Given the description of an element on the screen output the (x, y) to click on. 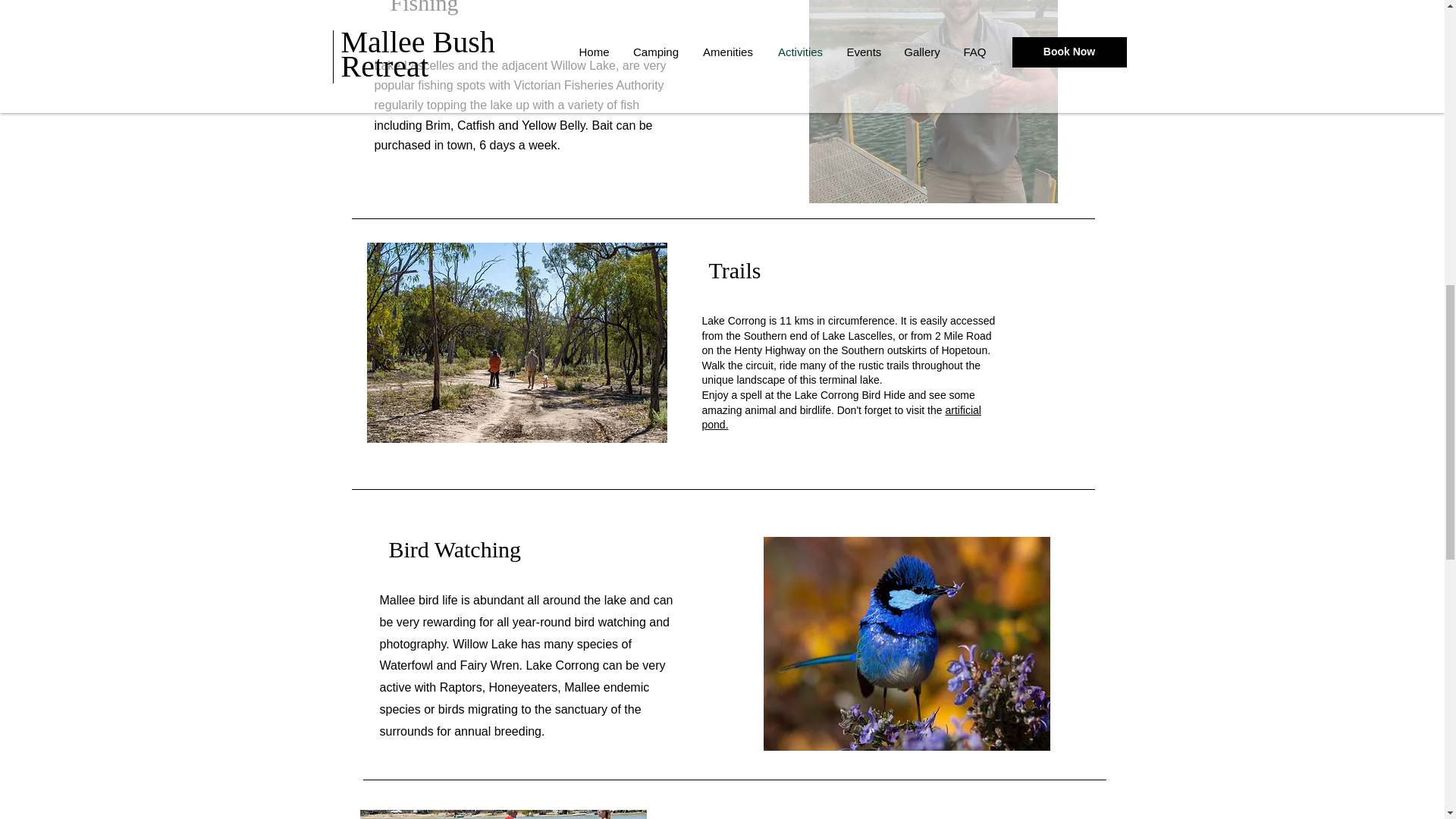
artificial pond. (841, 417)
